Given the description of an element on the screen output the (x, y) to click on. 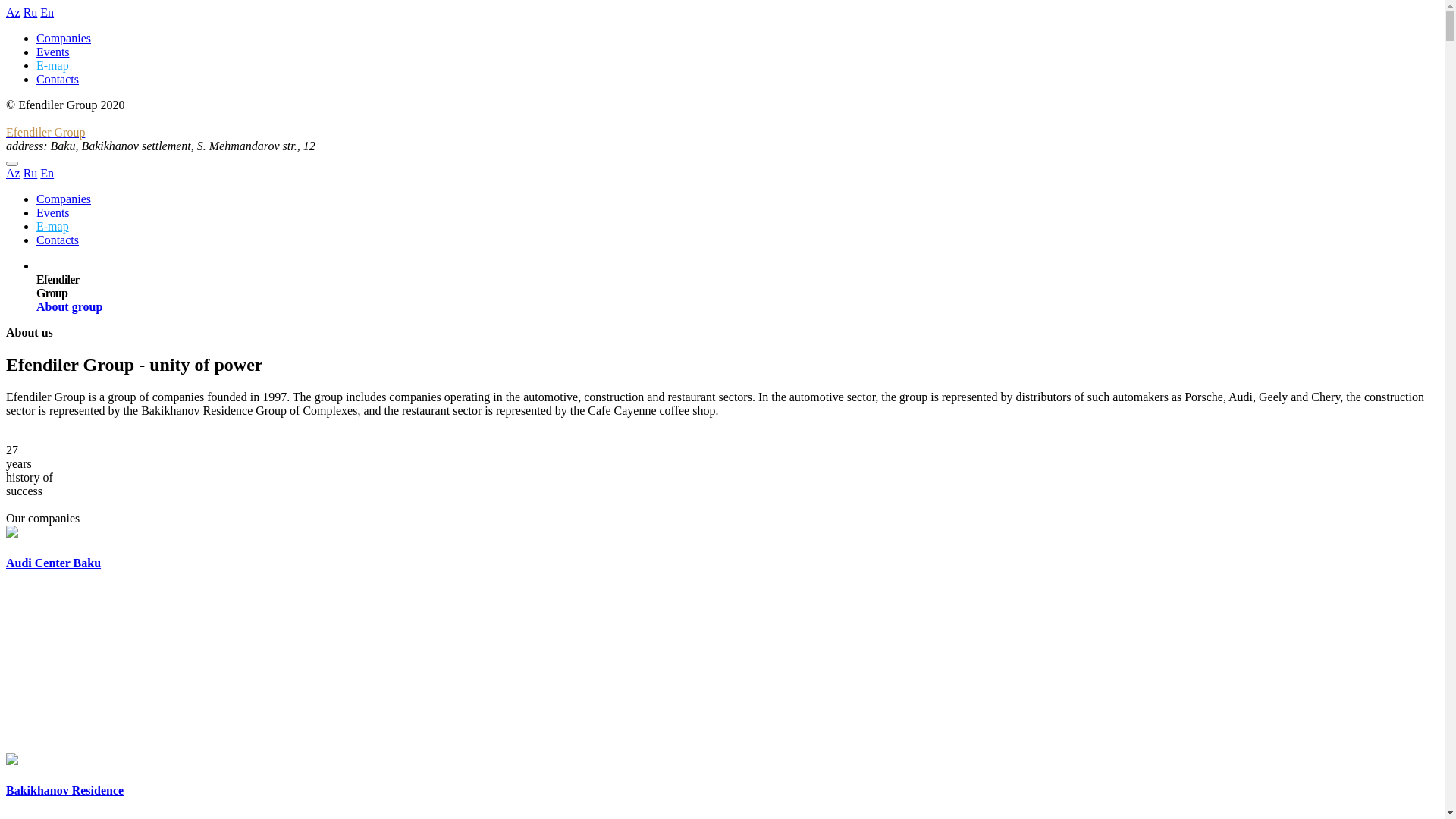
Efendiler Group Element type: text (722, 139)
E-map Element type: text (52, 65)
Az Element type: text (13, 172)
Audi Center Baku Element type: text (722, 548)
Bakikhanov Residence Element type: text (722, 775)
En Element type: text (46, 172)
Companies Element type: text (63, 37)
Contacts Element type: text (57, 239)
Events Element type: text (52, 51)
En Element type: text (46, 12)
About group Element type: text (69, 306)
Contacts Element type: text (57, 78)
Events Element type: text (52, 212)
Ru Element type: text (30, 12)
Az Element type: text (13, 12)
Companies Element type: text (63, 198)
E-map Element type: text (52, 225)
Ru Element type: text (30, 172)
